Given the description of an element on the screen output the (x, y) to click on. 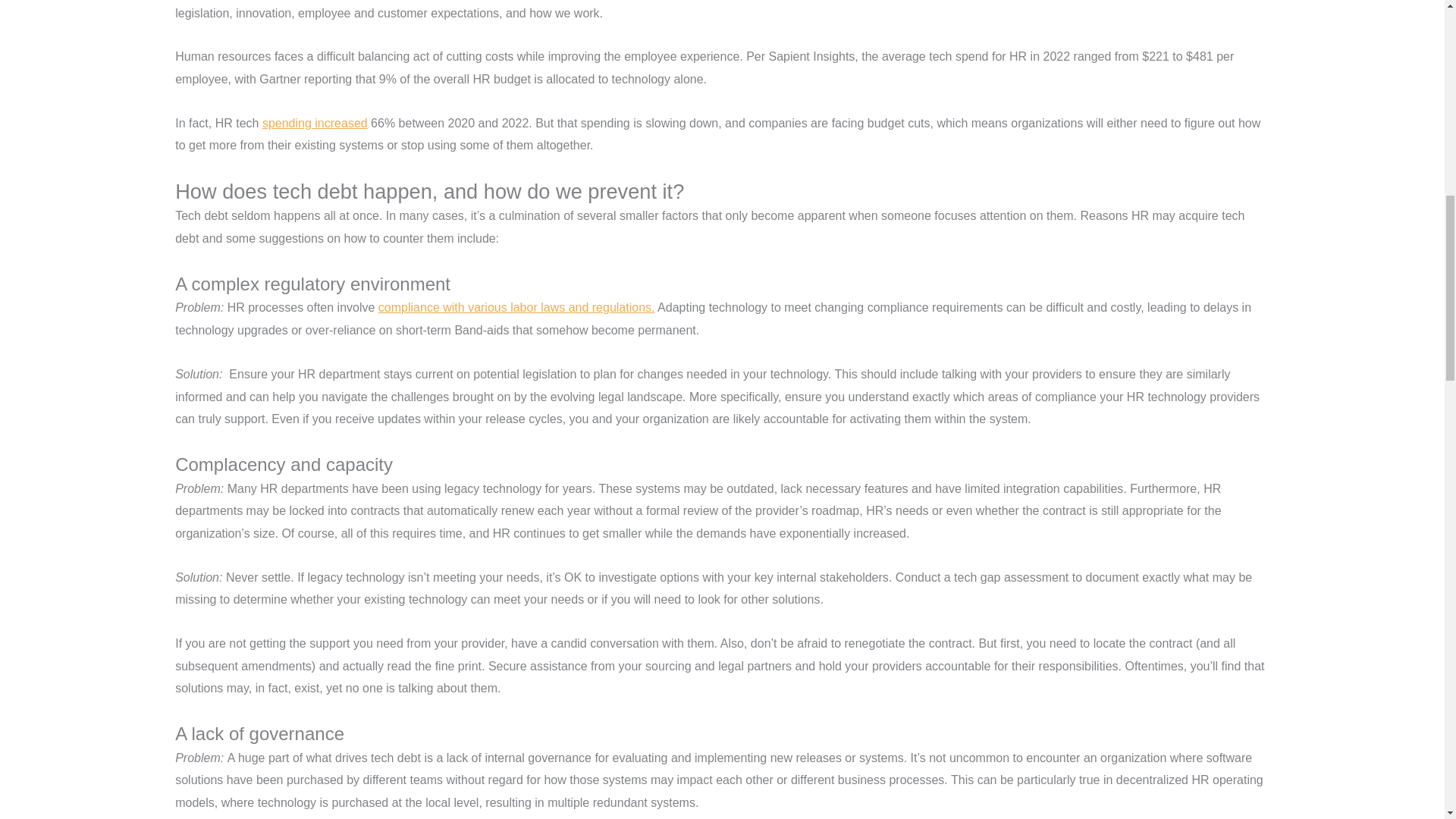
spending increased (315, 123)
compliance with various labor laws and regulations. (516, 307)
